Given the description of an element on the screen output the (x, y) to click on. 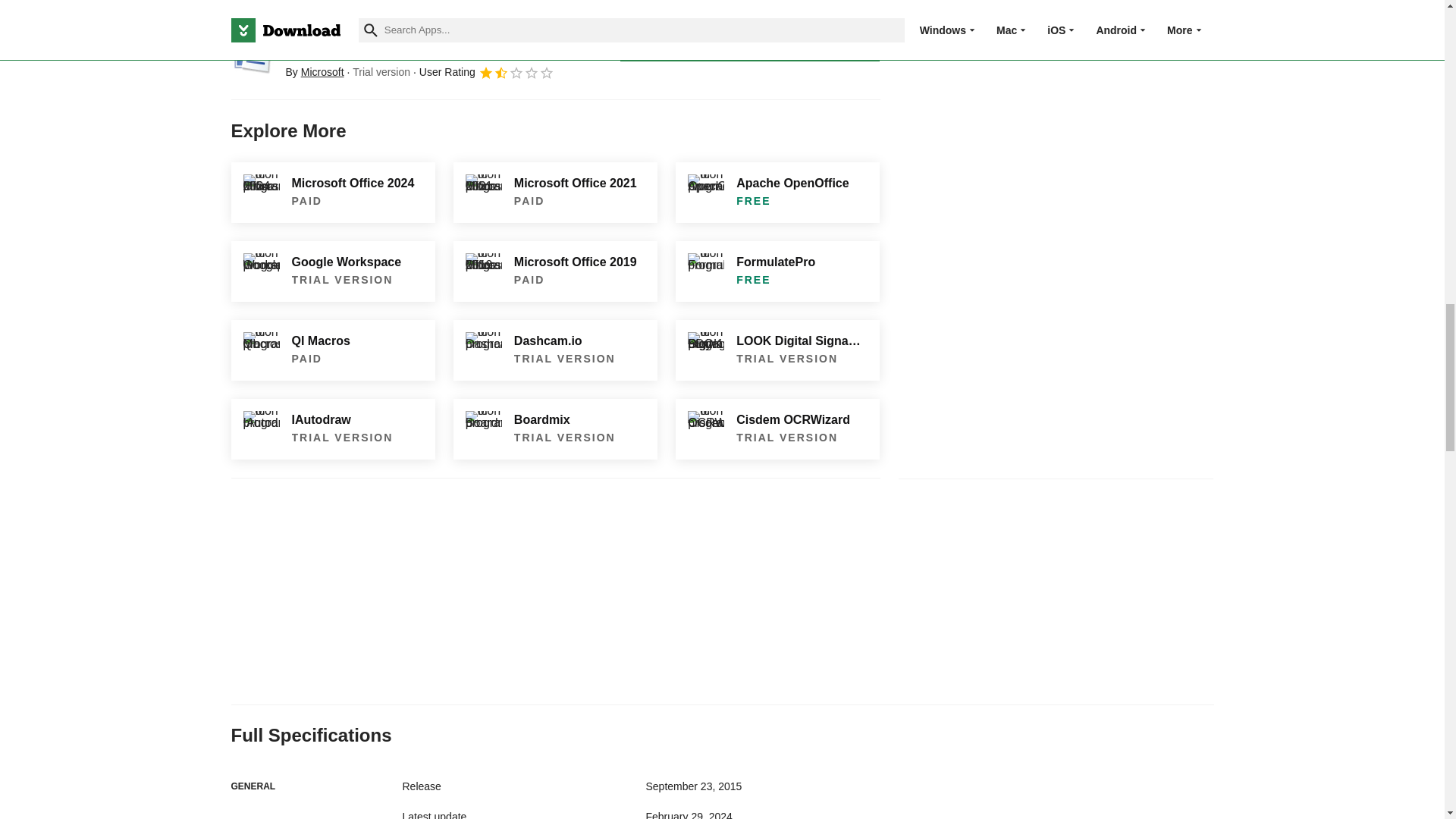
Microsoft Office 2019 (555, 271)
IAutodraw (331, 428)
FormulatePro (777, 271)
Microsoft Office 2021 (555, 192)
Boardmix (555, 428)
LOOK Digital Signage Player (777, 350)
Microsoft Office 2024 (331, 192)
Microsoft Word for Mac (251, 52)
Apache OpenOffice (777, 192)
Google Workspace (331, 271)
